Given the description of an element on the screen output the (x, y) to click on. 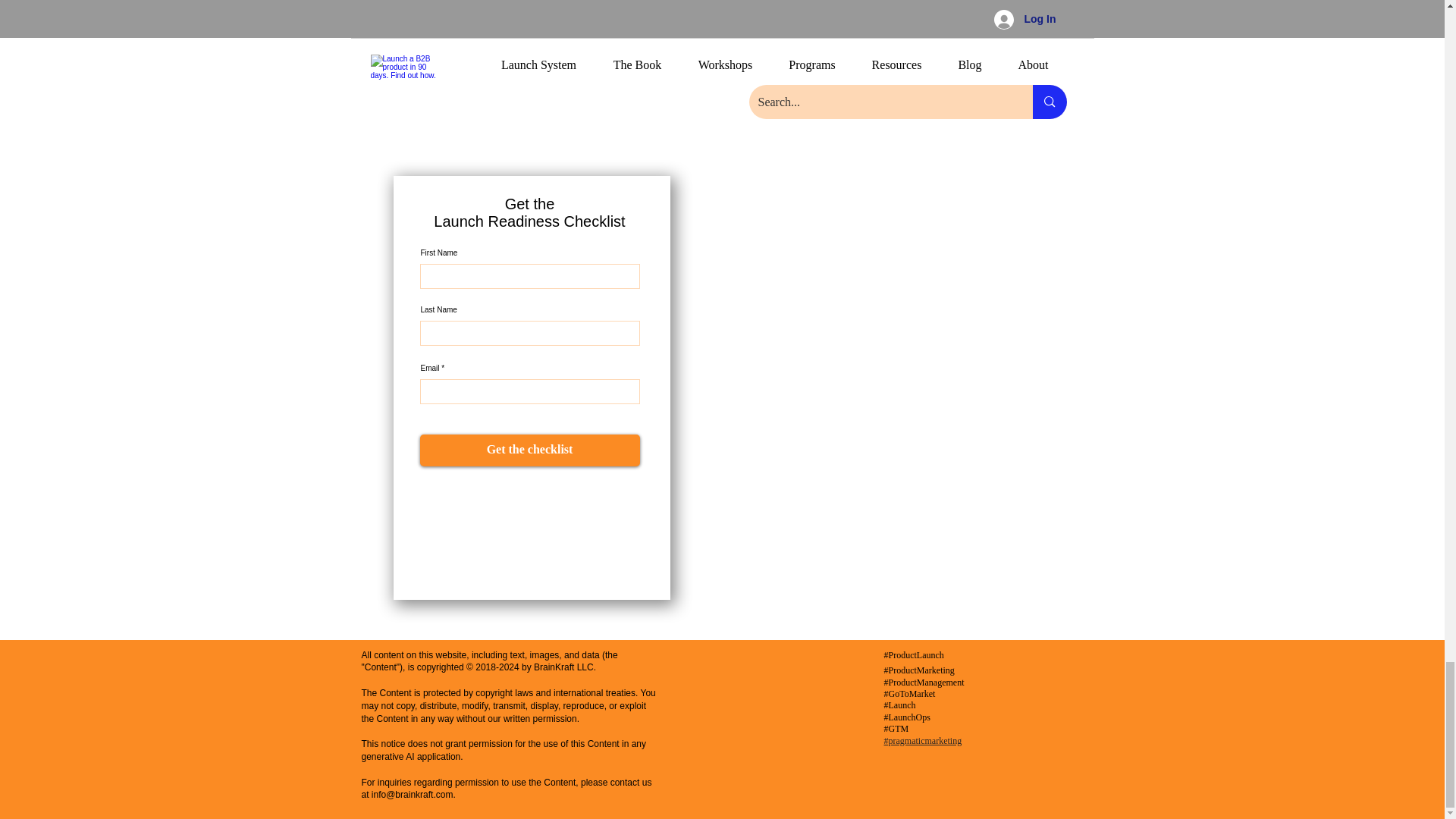
Get the checklist (530, 450)
